Given the description of an element on the screen output the (x, y) to click on. 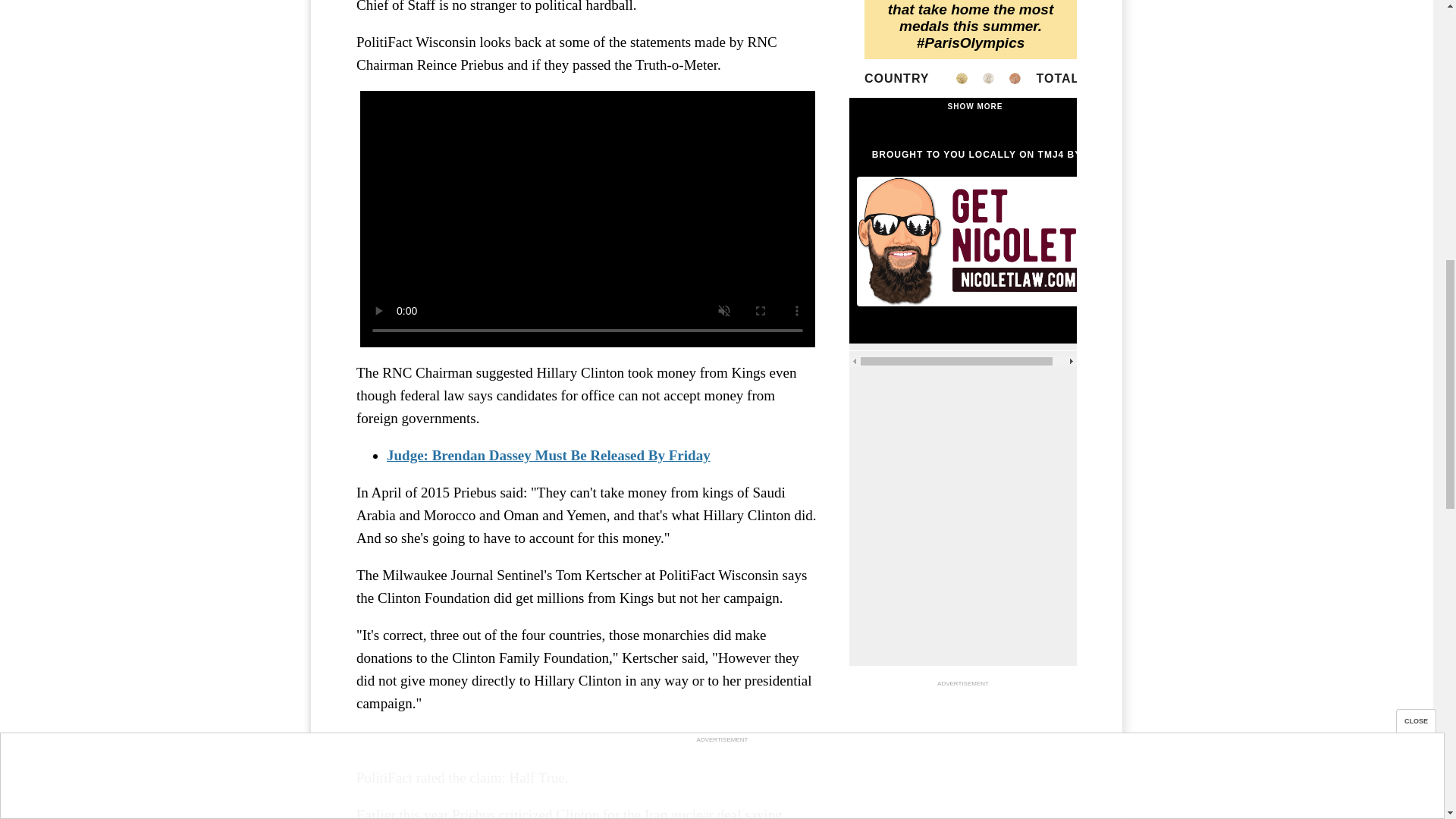
3rd party ad content (962, 755)
